Given the description of an element on the screen output the (x, y) to click on. 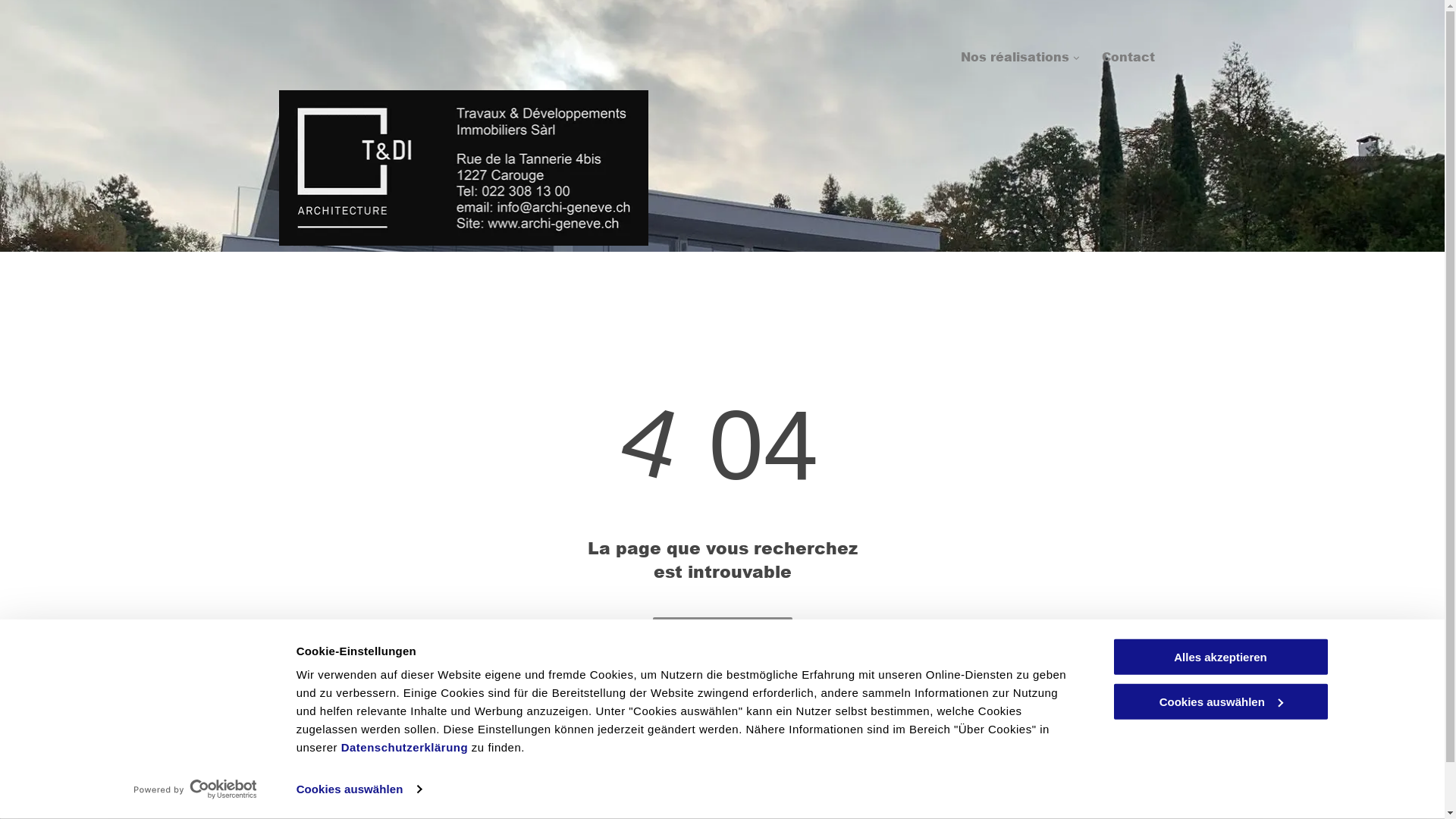
Contact Element type: text (1127, 56)
Alles akzeptieren Element type: text (1219, 656)
022 308 13 00 Element type: text (555, 740)
